Given the description of an element on the screen output the (x, y) to click on. 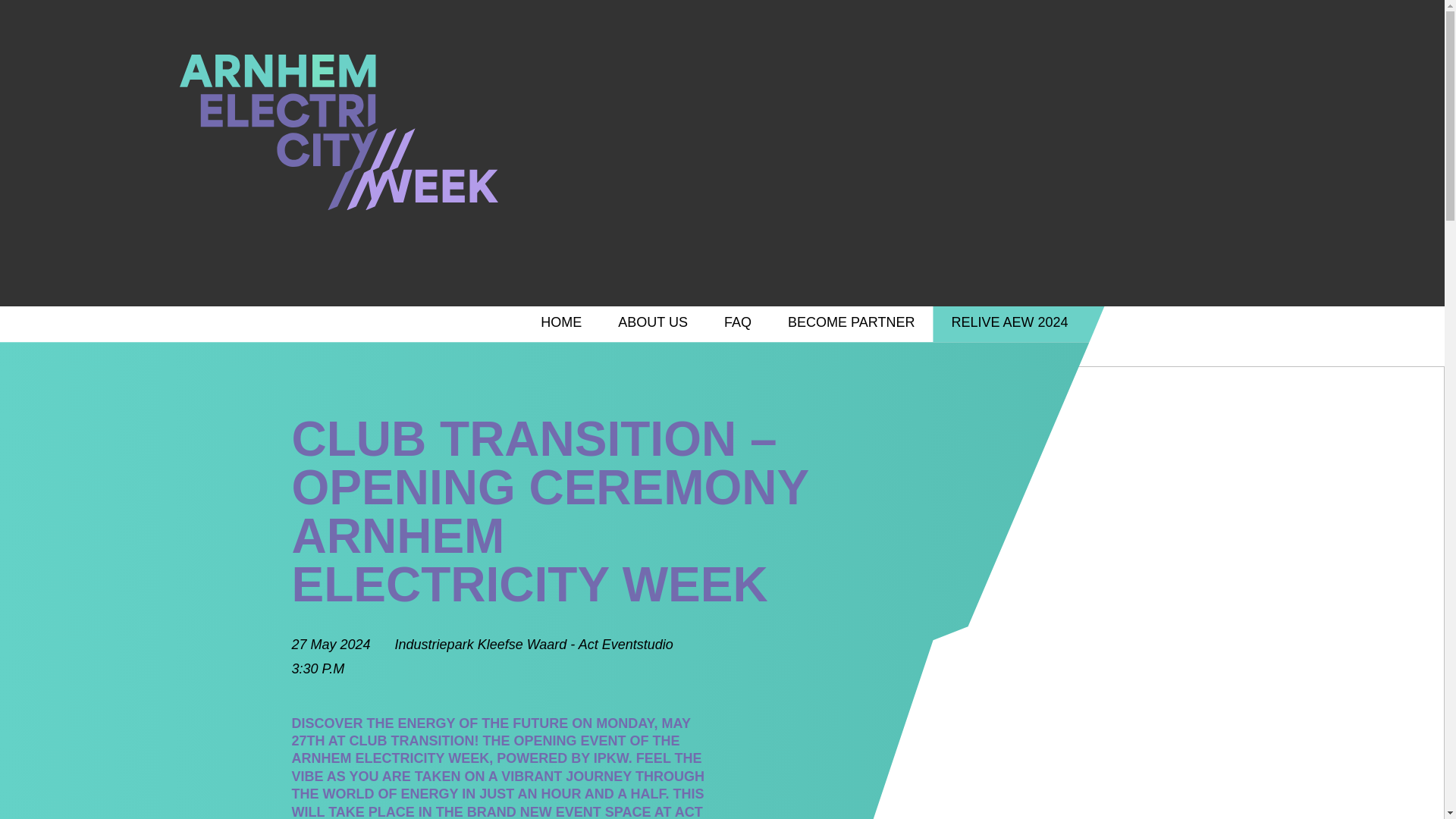
ABOUT US (652, 324)
HOME (560, 324)
FAQ (738, 324)
BECOME PARTNER (851, 324)
RELIVE AEW 2024 (1018, 324)
